Given the description of an element on the screen output the (x, y) to click on. 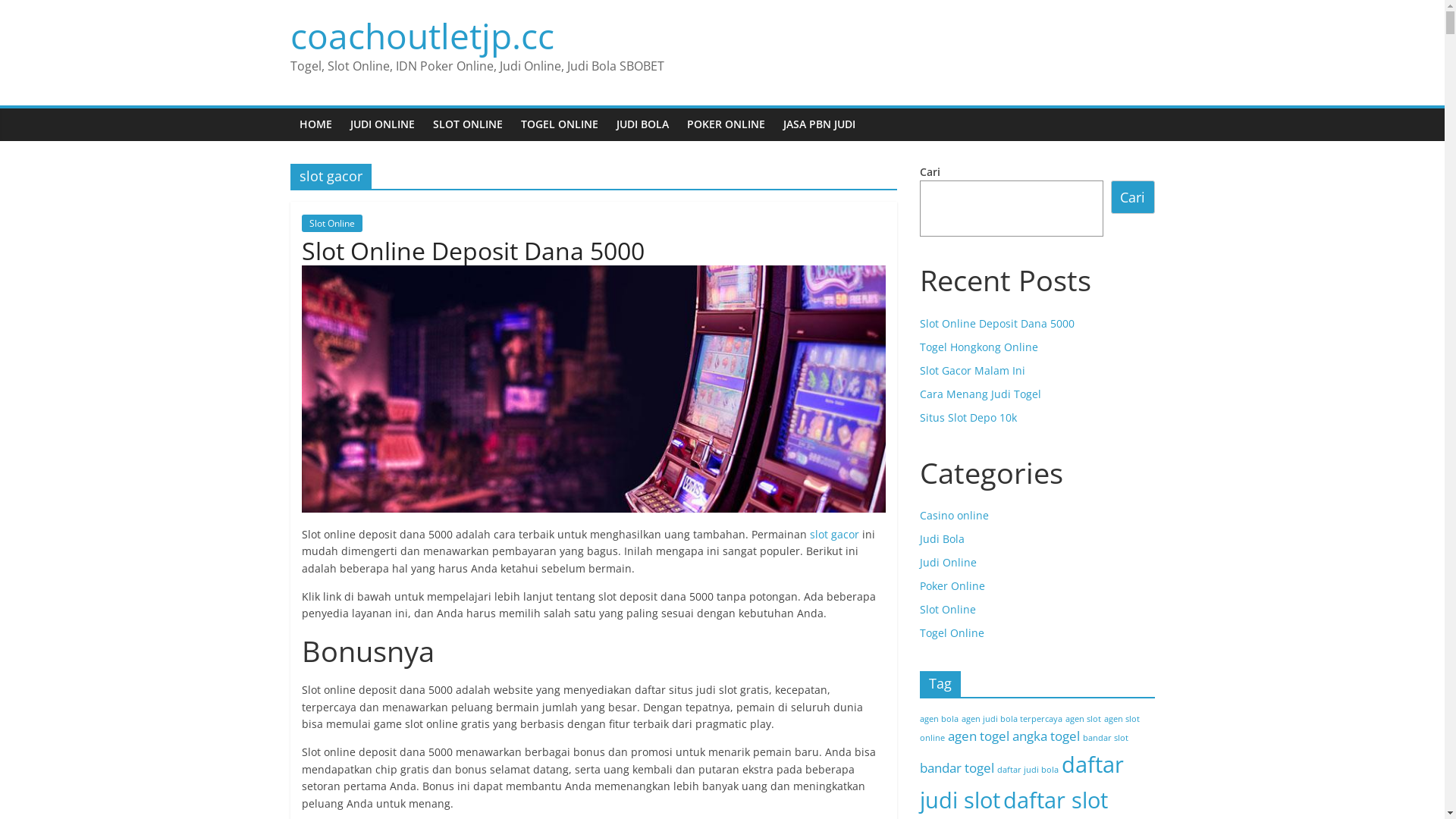
TOGEL ONLINE Element type: text (558, 124)
Slot Online Element type: text (331, 223)
agen slot online Element type: text (1029, 727)
Slot Online Deposit Dana 5000 Element type: text (996, 323)
angka togel Element type: text (1045, 735)
Togel Online Element type: text (951, 632)
Judi Bola Element type: text (941, 538)
POKER ONLINE Element type: text (725, 124)
Slot Online Deposit Dana 5000 Element type: text (472, 250)
Togel Hongkong Online Element type: text (978, 346)
Slot Online Element type: text (947, 609)
Situs Slot Depo 10k Element type: text (967, 417)
bandar slot Element type: text (1105, 737)
slot gacor Element type: text (834, 534)
daftar judi bola Element type: text (1026, 769)
agen slot Element type: text (1082, 718)
agen bola Element type: text (938, 718)
JASA PBN JUDI Element type: text (818, 124)
Cara Menang Judi Togel Element type: text (979, 393)
JUDI ONLINE Element type: text (382, 124)
Slot Gacor Malam Ini Element type: text (971, 370)
HOME Element type: text (314, 124)
JUDI BOLA Element type: text (641, 124)
agen judi bola terpercaya Element type: text (1011, 718)
coachoutletjp.cc Element type: text (421, 35)
agen togel Element type: text (978, 735)
Cari Element type: text (1132, 196)
daftar judi slot Element type: text (1021, 781)
Casino online Element type: text (953, 515)
SLOT ONLINE Element type: text (467, 124)
Poker Online Element type: text (951, 585)
bandar togel Element type: text (956, 767)
Judi Online Element type: text (947, 562)
